Given the description of an element on the screen output the (x, y) to click on. 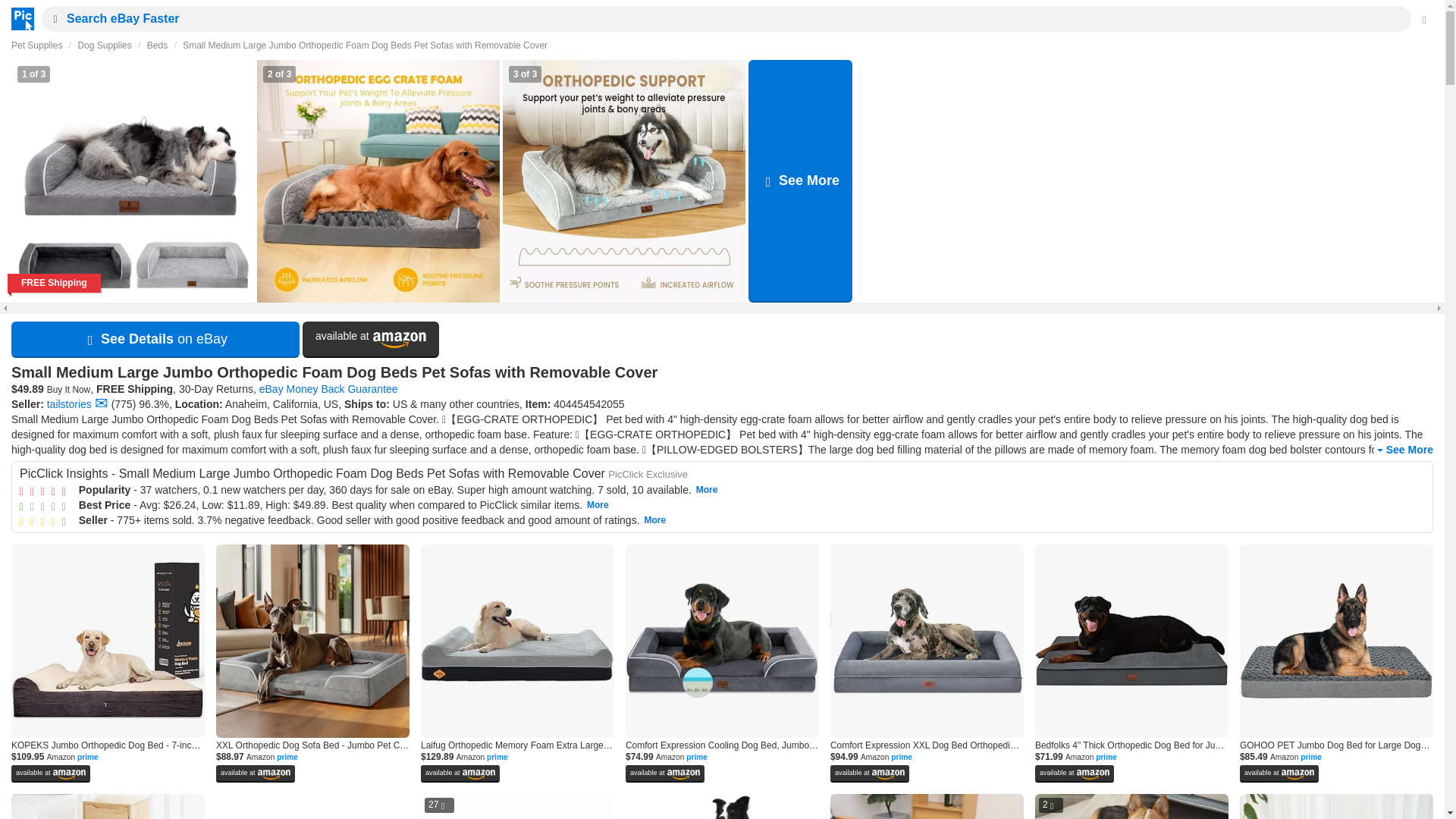
available at Amazon (370, 339)
Pet Supplies (36, 45)
2 of 3 (378, 180)
Beds (157, 45)
eBay Item Number (588, 404)
PicClick (18, 18)
Dog Supplies (104, 45)
eBay Money Back Guarantee (328, 388)
See More (1403, 450)
